Given the description of an element on the screen output the (x, y) to click on. 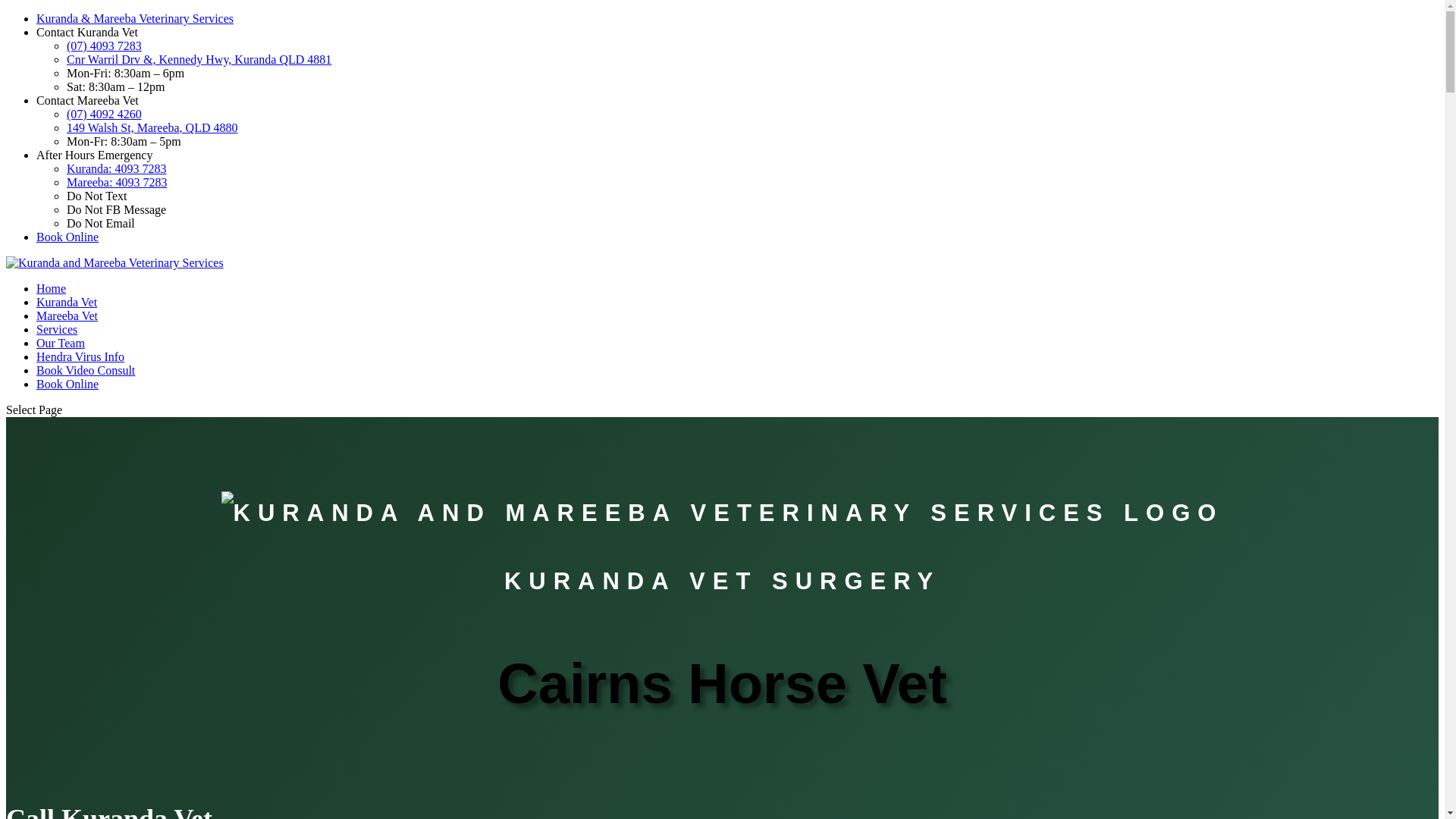
Book Video Consult Element type: text (85, 370)
Do Not Email Element type: text (100, 222)
Kuranda: 4093 7283 Element type: text (116, 168)
Kuranda & Mareeba Veterinary Services Element type: text (134, 18)
Our Team Element type: text (60, 342)
Services Element type: text (56, 329)
Contact Mareeba Vet Element type: text (87, 100)
(07) 4092 4260 Element type: text (103, 113)
(07) 4093 7283 Element type: text (103, 45)
Do Not FB Message Element type: text (116, 209)
Hendra Virus Info Element type: text (80, 356)
Book Online Element type: text (67, 236)
Home Element type: text (50, 288)
Mareeba: 4093 7283 Element type: text (116, 181)
Do Not Text Element type: text (96, 195)
Cnr Warril Drv &, Kennedy Hwy, Kuranda QLD 4881 Element type: text (198, 59)
After Hours Emergency Element type: text (94, 154)
Mareeba Vet Element type: text (66, 315)
Contact Kuranda Vet Element type: text (87, 31)
Book Online Element type: text (67, 383)
Kuranda Vet Element type: text (66, 301)
149 Walsh St, Mareeba, QLD 4880 Element type: text (152, 127)
